Given the description of an element on the screen output the (x, y) to click on. 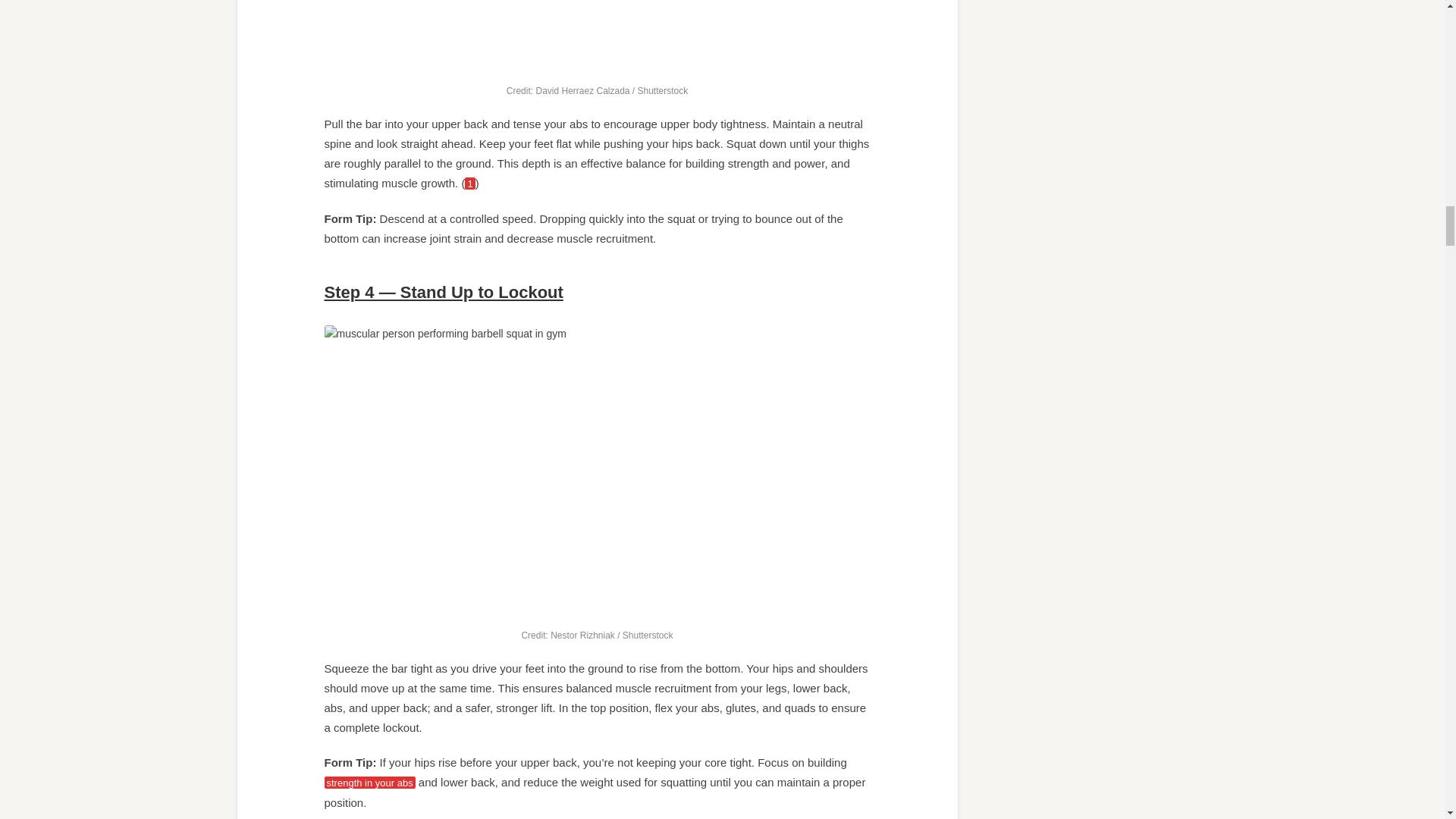
strength in your abs (369, 782)
